Given the description of an element on the screen output the (x, y) to click on. 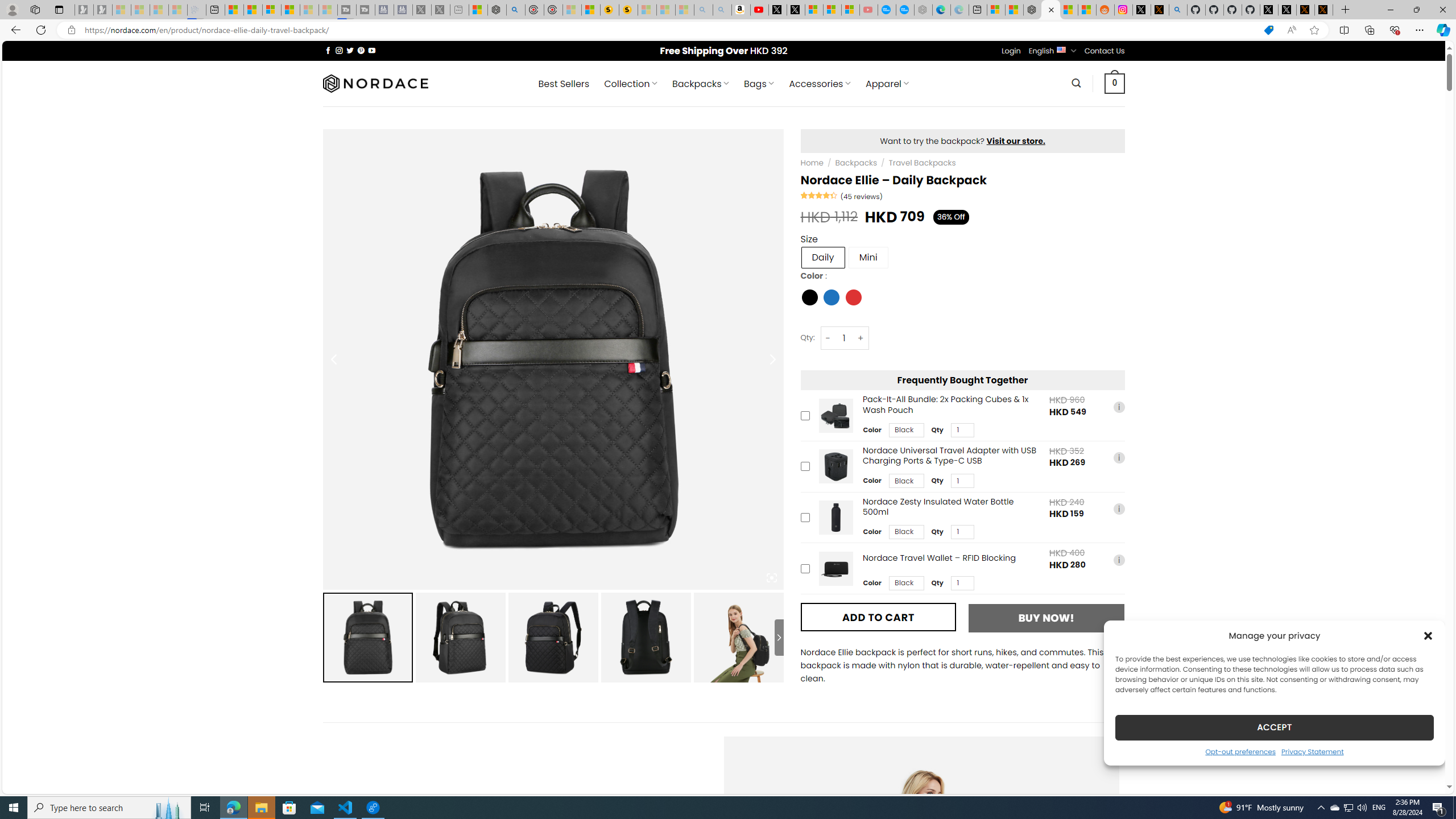
Backpacks (855, 162)
